Given the description of an element on the screen output the (x, y) to click on. 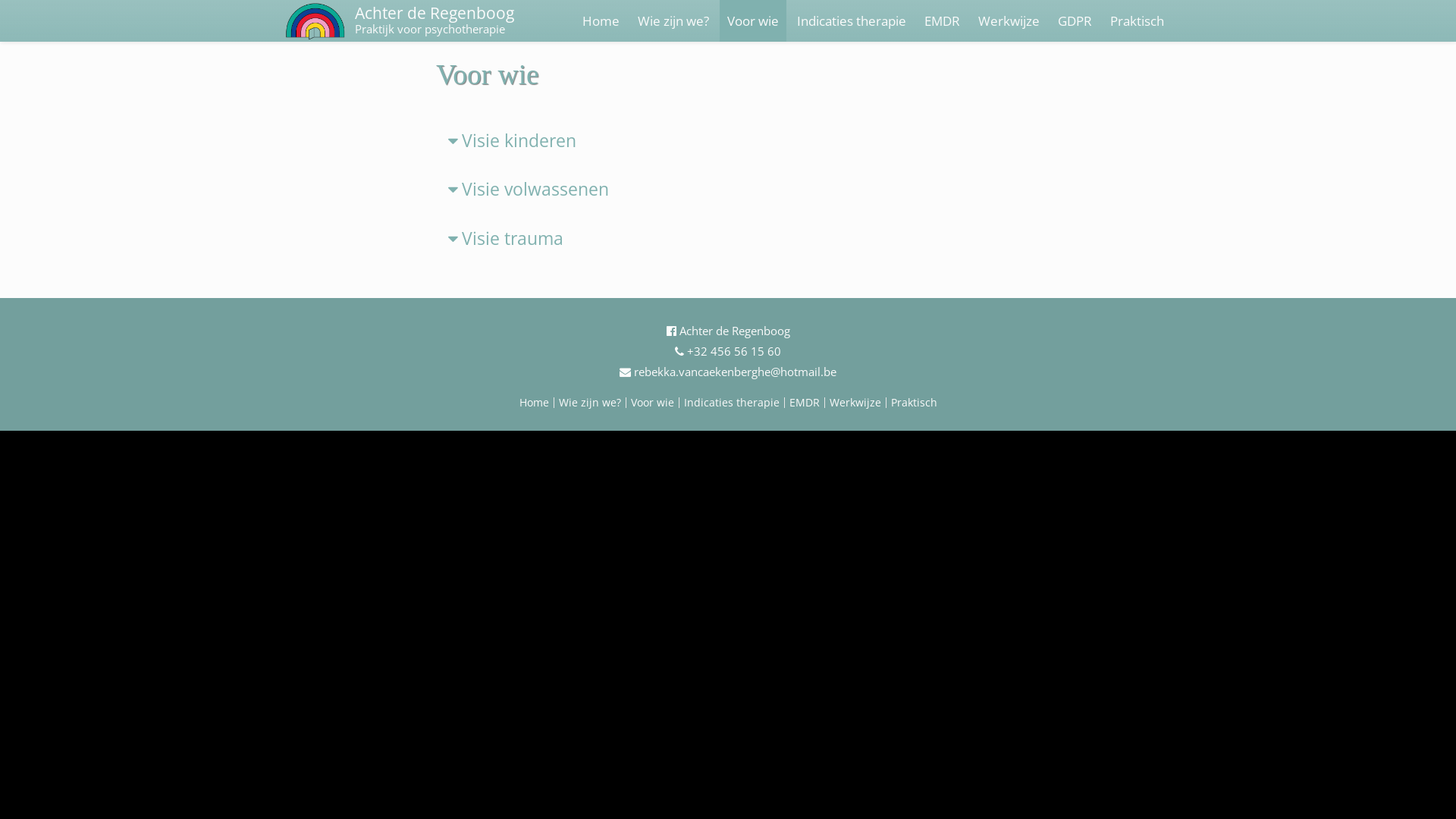
EMDR Element type: text (941, 20)
Wie zijn we? Element type: text (673, 20)
Home Element type: text (600, 20)
Voor wie Element type: text (487, 74)
+32 456 56 15 60 Element type: text (727, 350)
Indicaties therapie Element type: text (731, 402)
GDPR Element type: text (1074, 20)
Wie zijn we? Element type: text (589, 402)
rebekka.vancaekenberghe@hotmail.be Element type: text (727, 371)
Voor wie Element type: text (752, 20)
EMDR Element type: text (803, 402)
Indicaties therapie Element type: text (851, 20)
Praktisch Element type: text (913, 402)
Voor wie Element type: text (652, 402)
Praktisch Element type: text (1136, 20)
Achter de Regenboog
Praktijk voor psychotherapie Element type: text (434, 20)
Werkwijze Element type: text (855, 402)
Achter de Regenboog Element type: text (727, 330)
Werkwijze Element type: text (1008, 20)
Home Element type: text (533, 402)
